Given the description of an element on the screen output the (x, y) to click on. 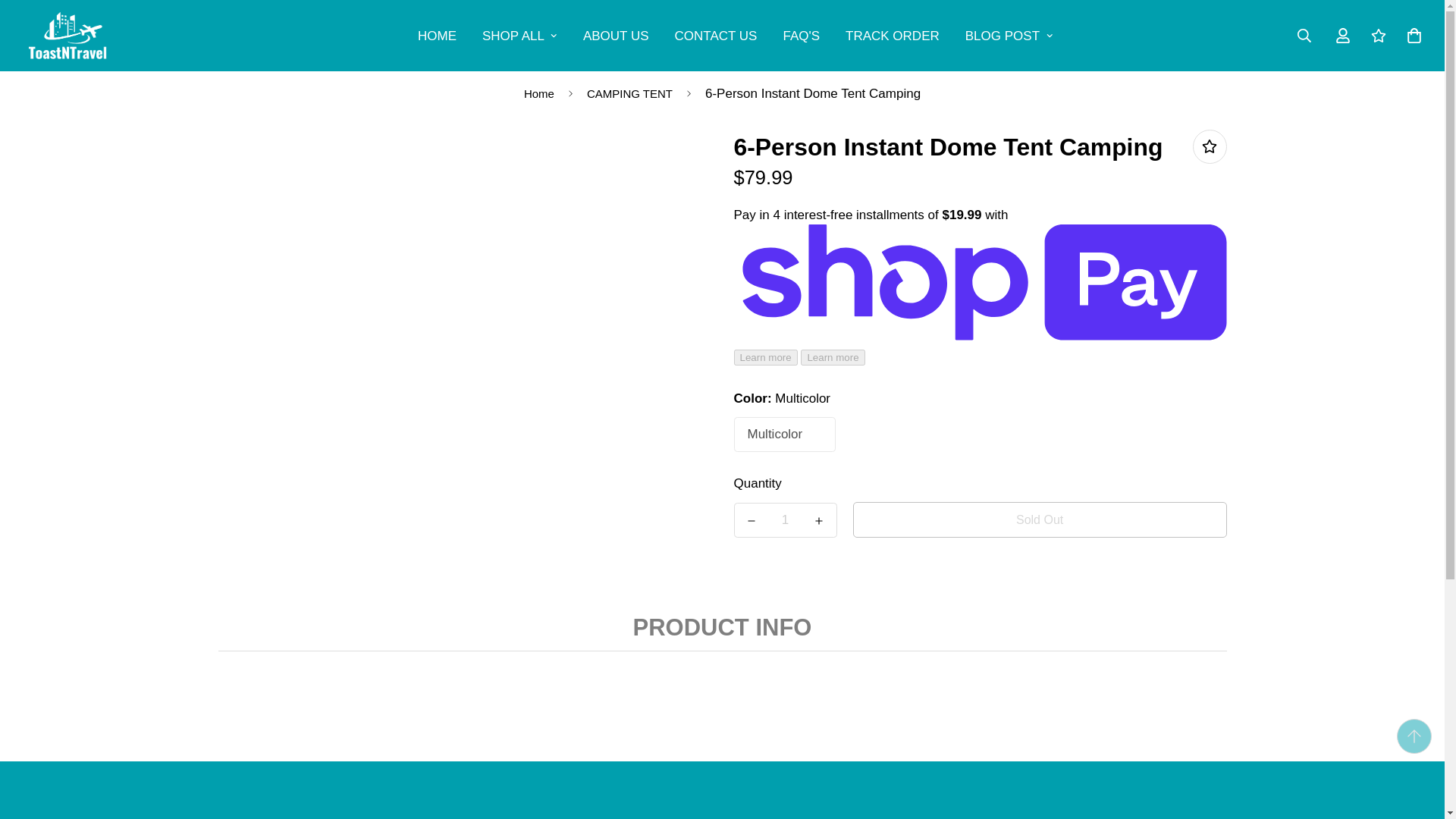
CONTACT US (715, 35)
1 (785, 520)
ABOUT US (616, 35)
Back to the home page (539, 93)
ToastNTravel (67, 35)
HOME (436, 35)
SHOP ALL (519, 35)
